Given the description of an element on the screen output the (x, y) to click on. 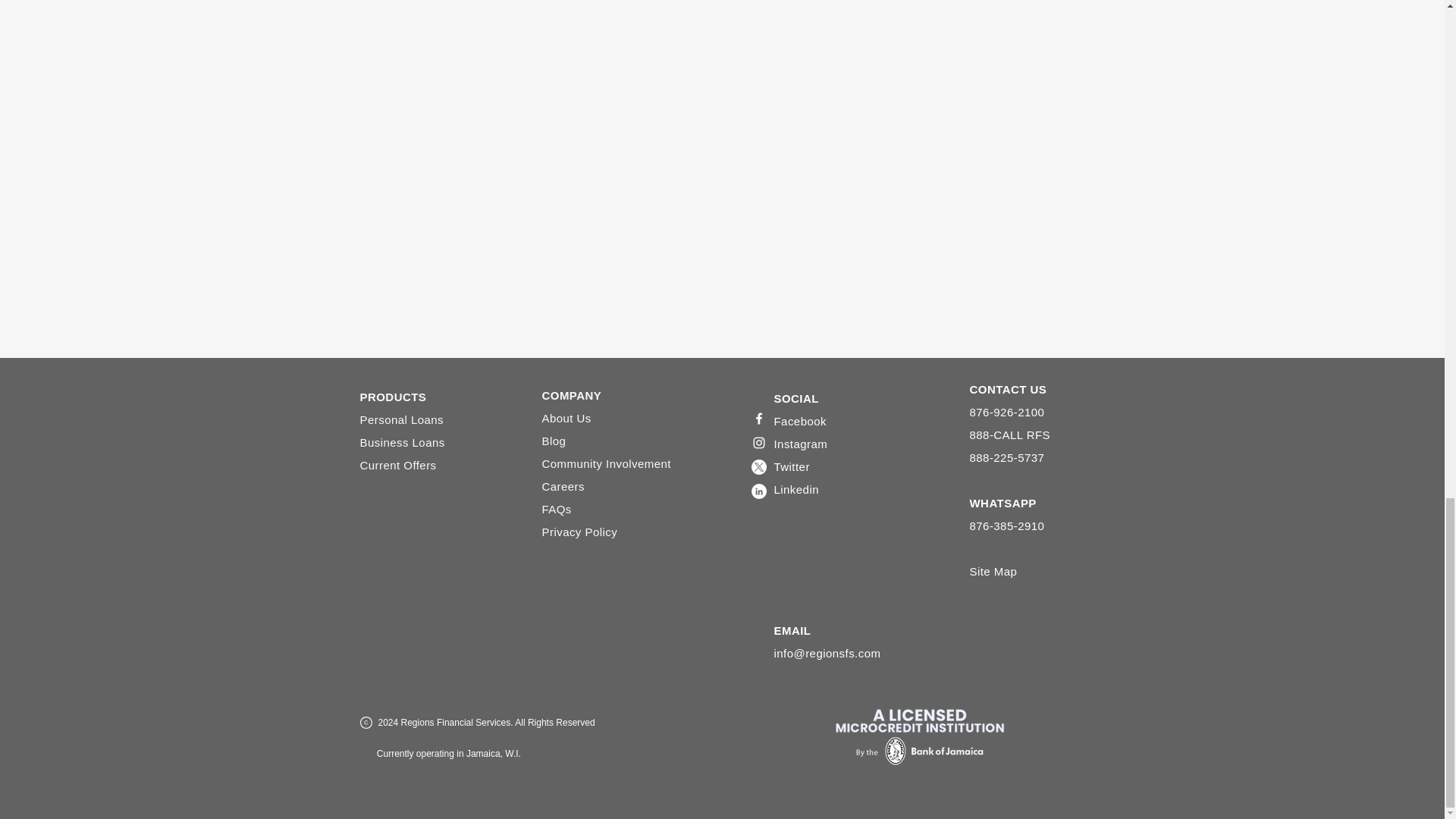
FAQs (555, 509)
Current Offers (397, 465)
Blog (553, 440)
Linkedin (795, 490)
Site Map (992, 571)
Instagram (800, 444)
876-926-2100 (1006, 412)
Twitter (791, 467)
Personal Loans (401, 419)
Careers (563, 486)
